Given the description of an element on the screen output the (x, y) to click on. 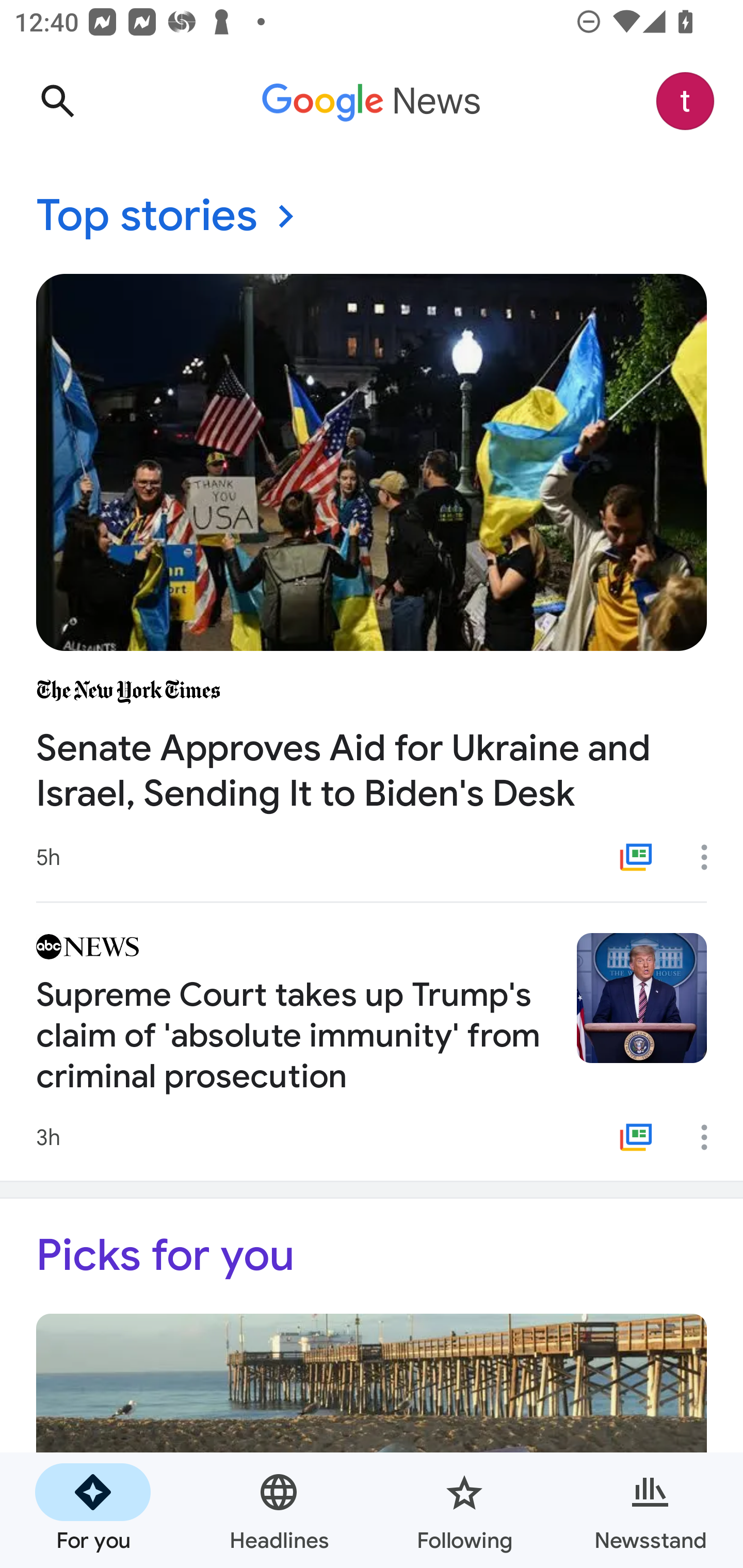
Search (57, 100)
Top stories (371, 216)
More options (711, 856)
More options (711, 1137)
For you (92, 1509)
Headlines (278, 1509)
Following (464, 1509)
Newsstand (650, 1509)
